Given the description of an element on the screen output the (x, y) to click on. 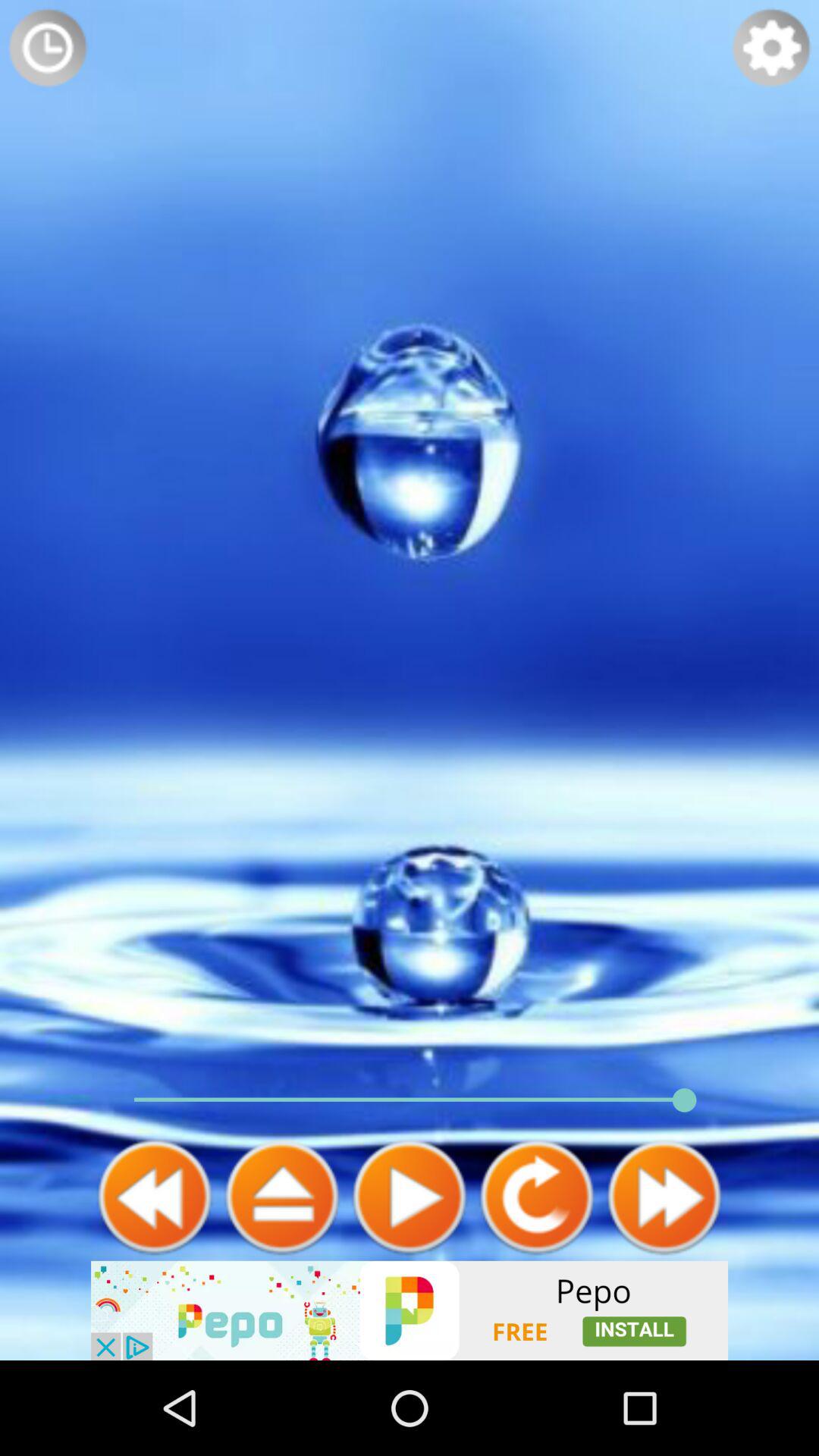
next (281, 1196)
